Given the description of an element on the screen output the (x, y) to click on. 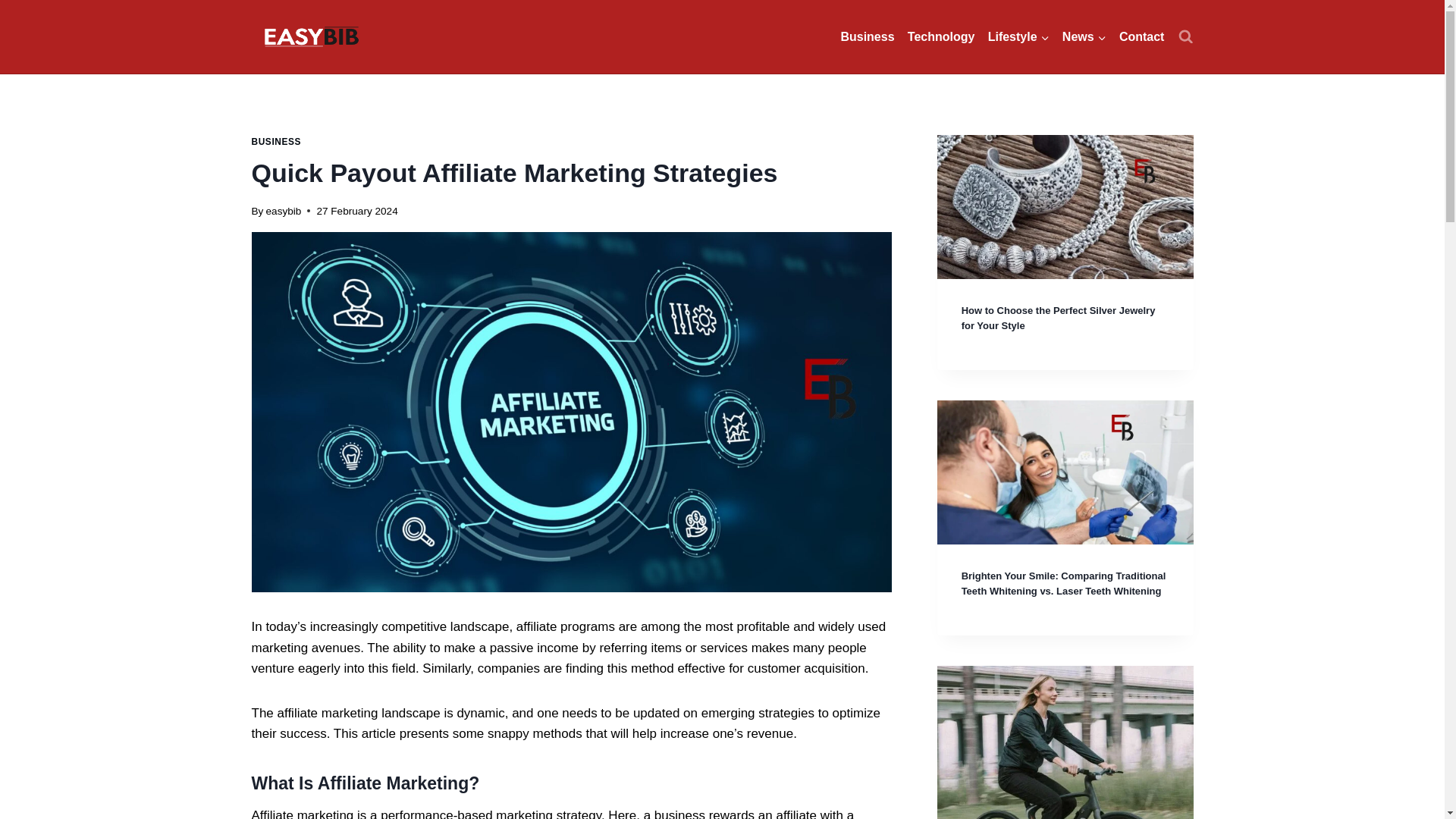
Technology (941, 36)
Contact (1141, 36)
How to Choose the Perfect Silver Jewelry for Your Style (1058, 317)
News (1083, 36)
Lifestyle (1018, 36)
easybib (283, 211)
Business (867, 36)
BUSINESS (276, 141)
